Given the description of an element on the screen output the (x, y) to click on. 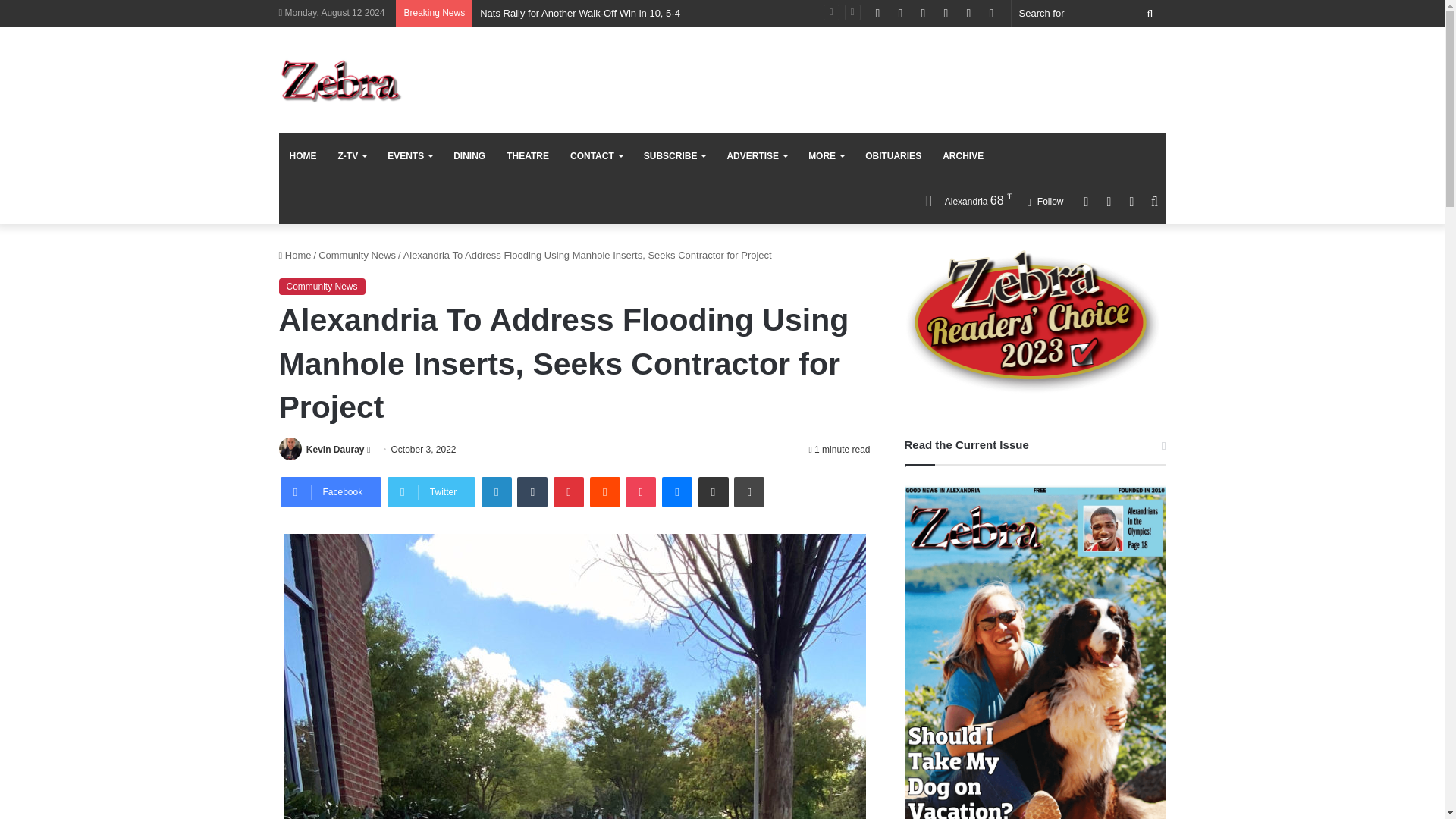
Z-TV (352, 156)
DINING (469, 156)
ADVERTISE (756, 156)
Nats Rally for Another Walk-Off Win in 10, 5-4 (579, 12)
LinkedIn (496, 491)
SUBSCRIBE (674, 156)
CONTACT (596, 156)
Facebook (331, 491)
Pinterest (568, 491)
HOME (303, 156)
